Given the description of an element on the screen output the (x, y) to click on. 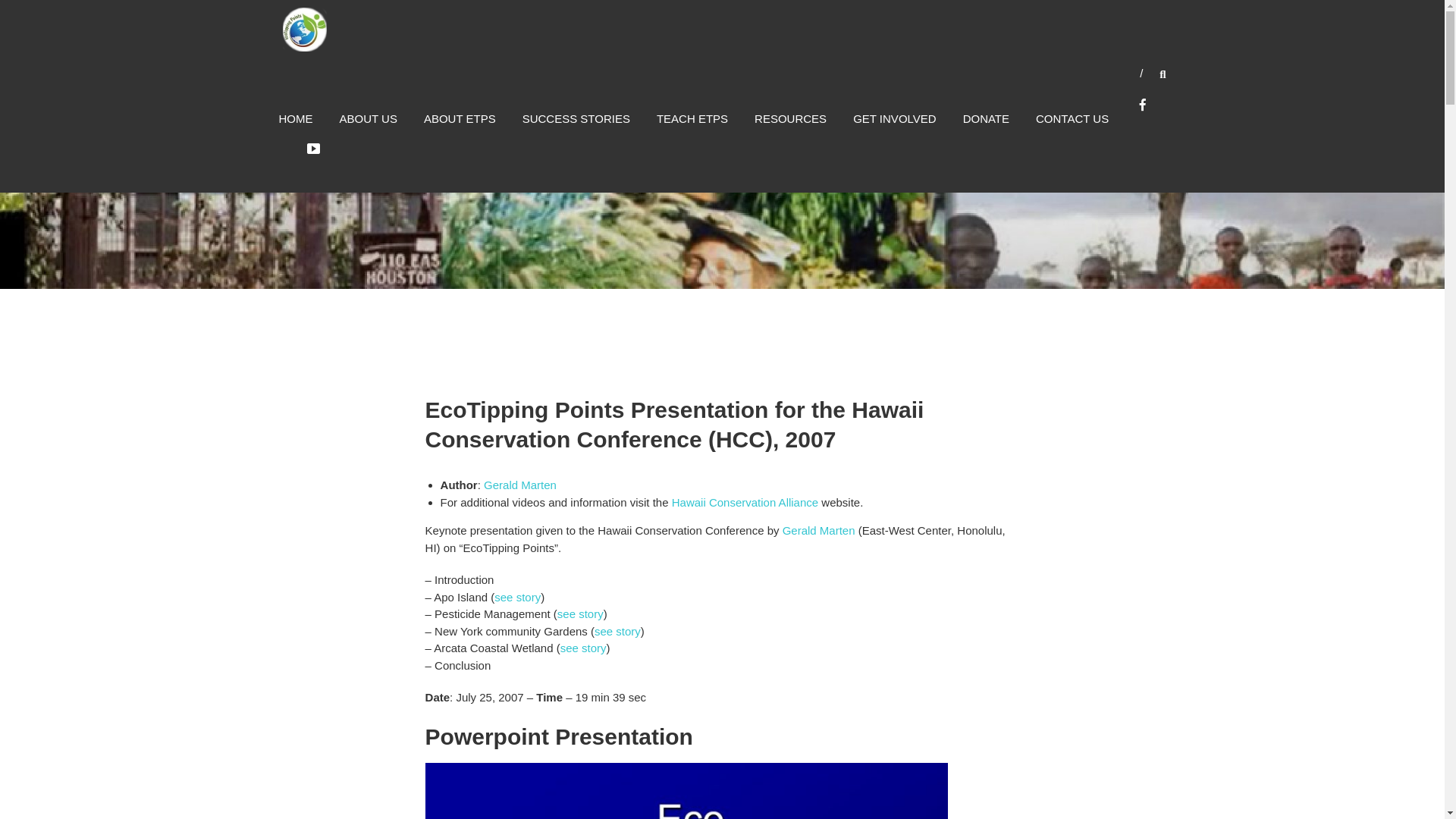
SUCCESS STORIES (576, 118)
Search (1232, 409)
ABOUT US (368, 118)
RESOURCES (790, 118)
DONATE (985, 118)
GET INVOLVED (894, 118)
CONTACT US (1071, 118)
ABOUT ETPS (459, 118)
TEACH ETPS (692, 118)
